Given the description of an element on the screen output the (x, y) to click on. 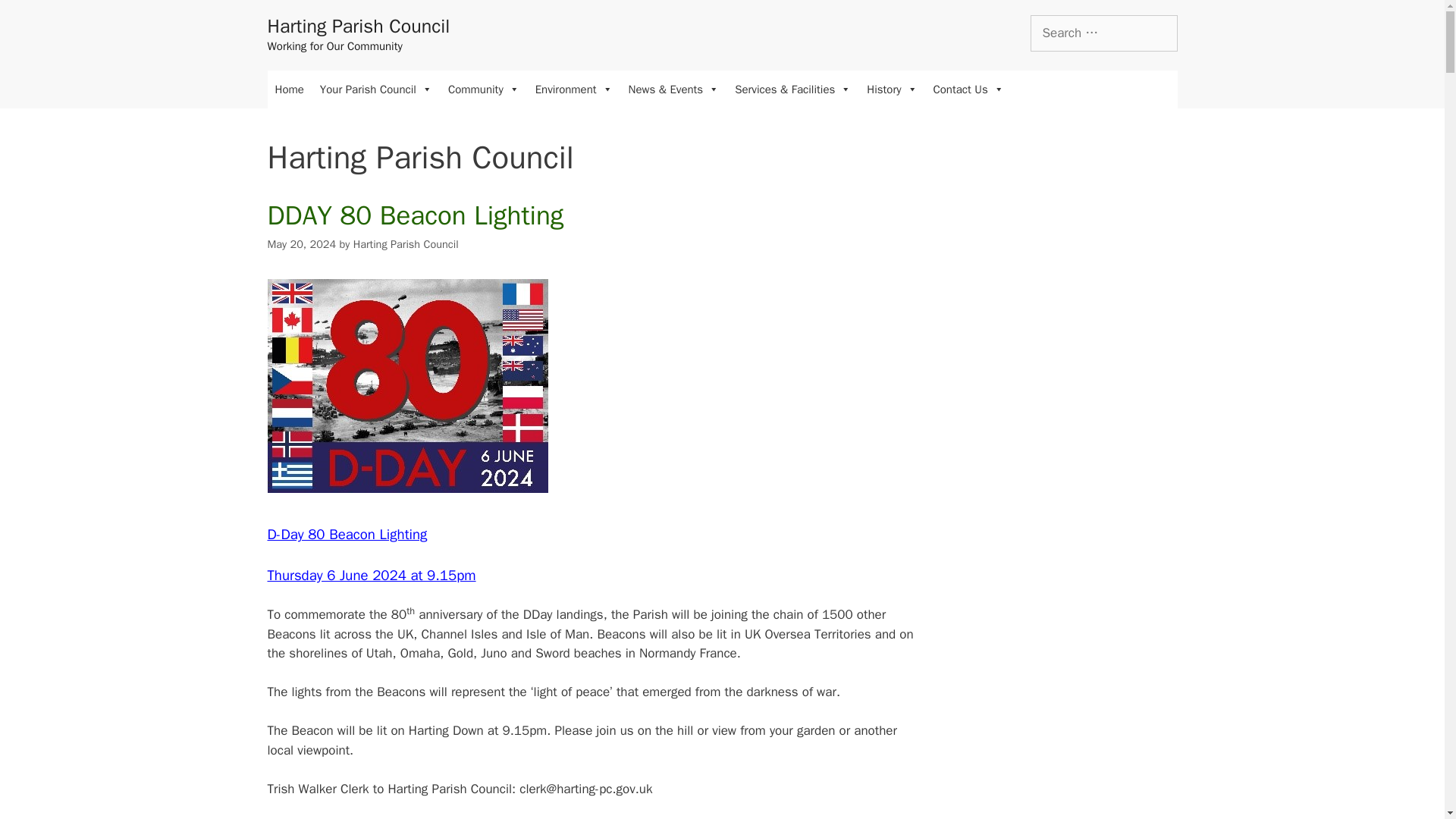
Home (288, 88)
Community (484, 88)
View all posts by Harting Parish Council (405, 243)
Search for: (1102, 33)
Search (35, 18)
Your Parish Council (376, 88)
Harting Parish Council (357, 25)
